Given the description of an element on the screen output the (x, y) to click on. 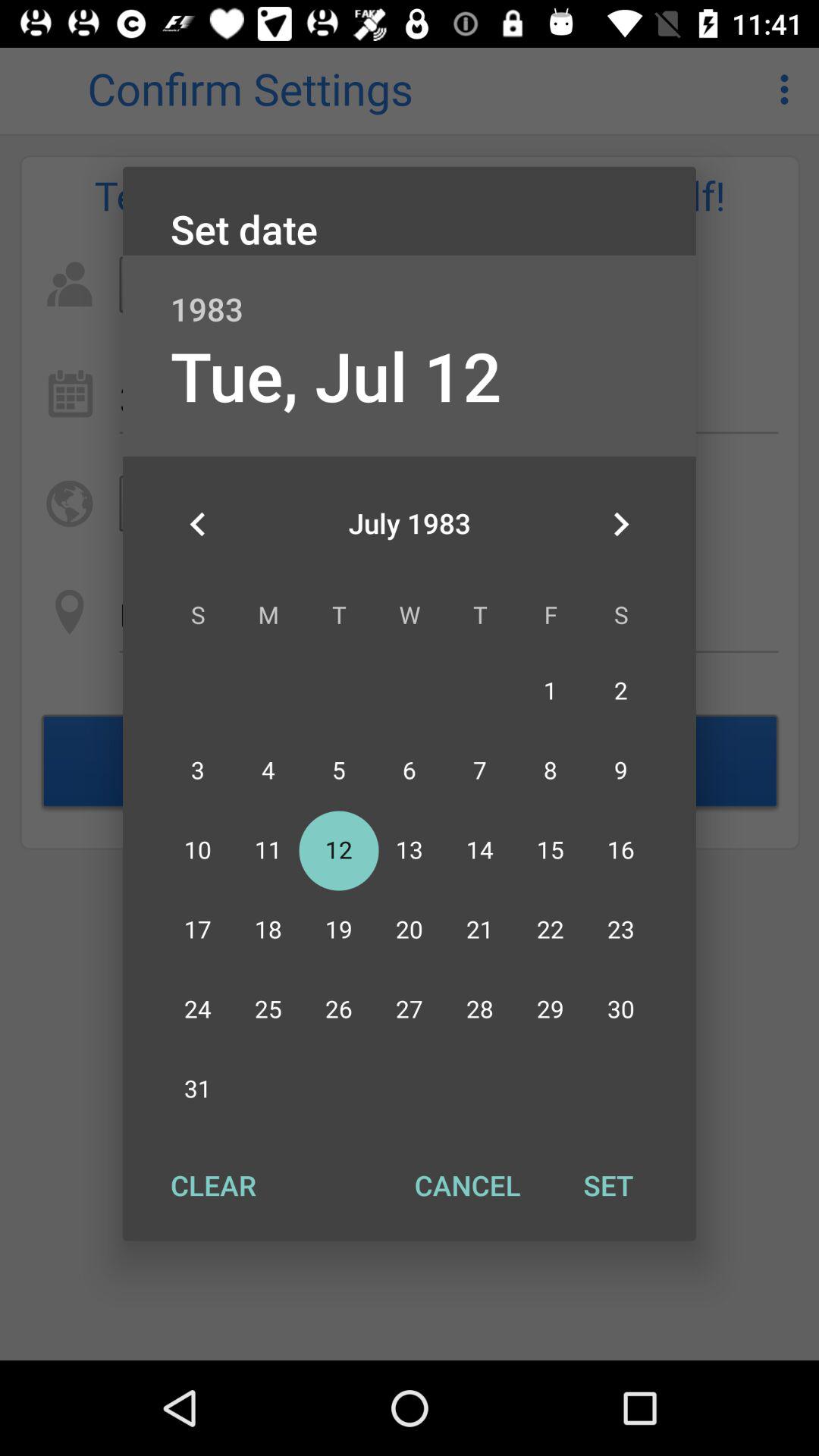
open item above set button (620, 524)
